Given the description of an element on the screen output the (x, y) to click on. 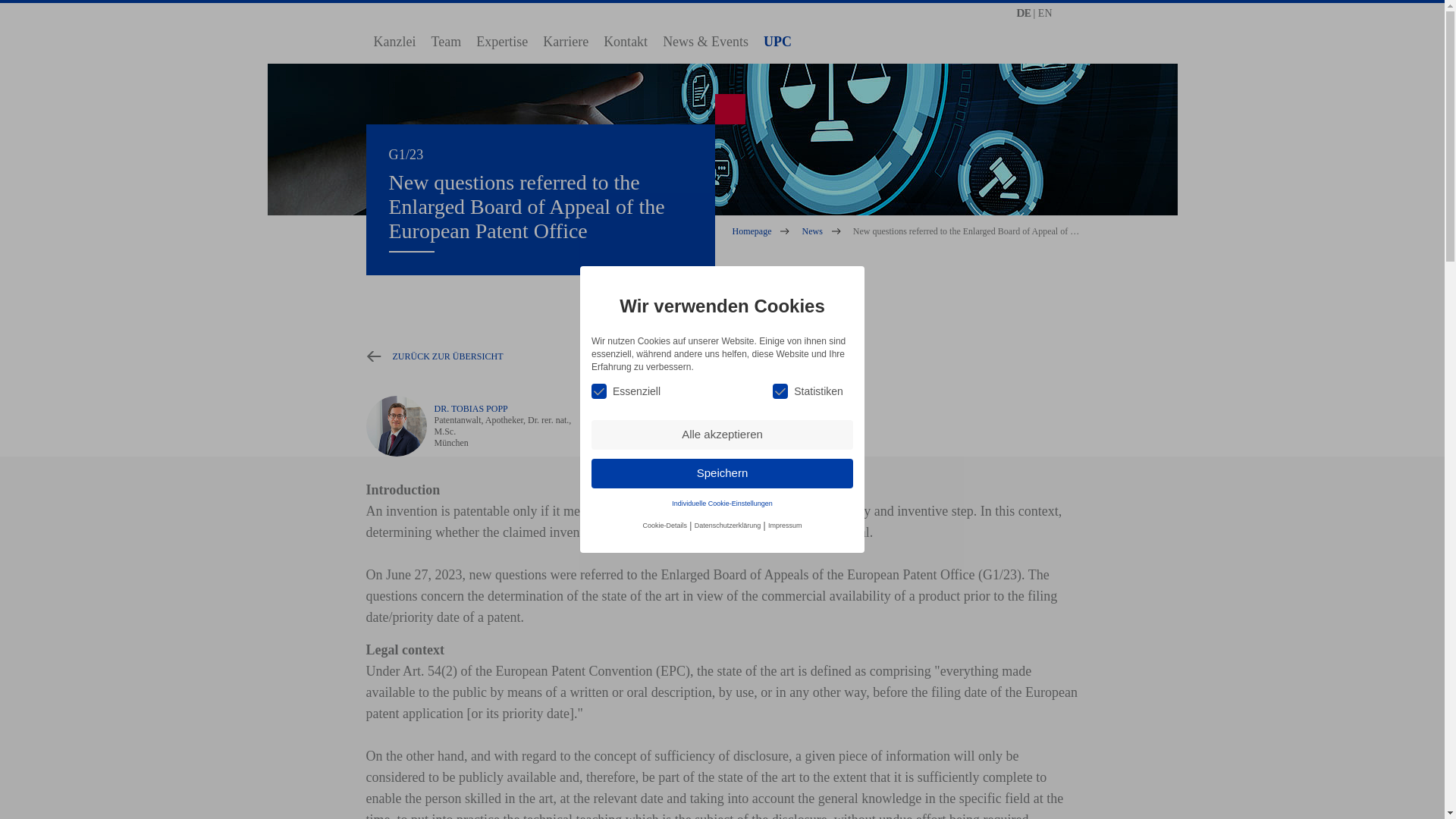
Team (445, 41)
Kanzlei (394, 41)
Expertise (501, 41)
